Given the description of an element on the screen output the (x, y) to click on. 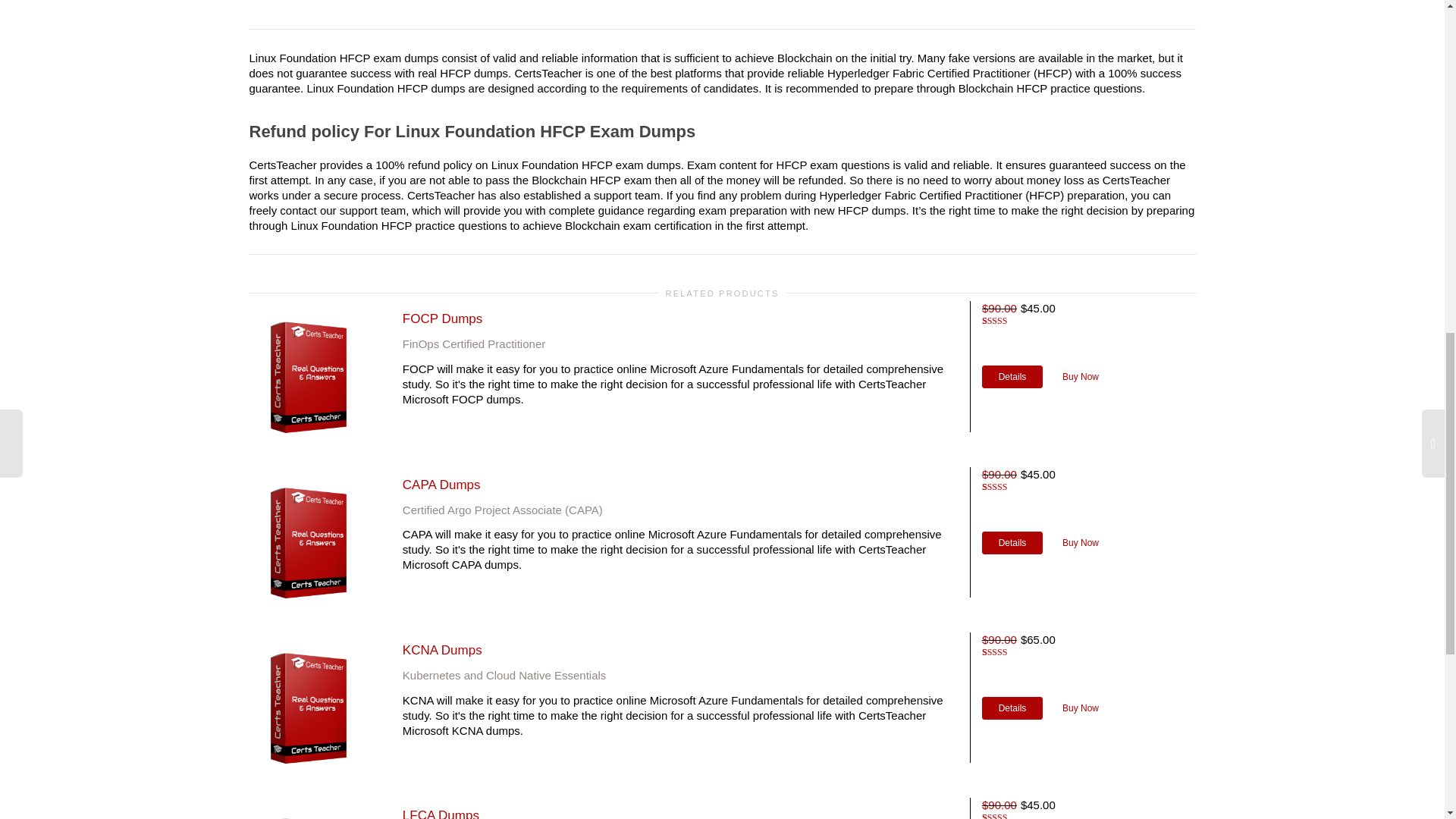
Buy Now (1079, 707)
CAPA Dumps (441, 484)
Buy Now (1079, 542)
Details (1011, 542)
LFCA Dumps (441, 813)
Details (1011, 707)
FOCP Dumps (443, 318)
Details (1011, 376)
Buy Now (1079, 376)
KCNA Dumps (442, 649)
